Given the description of an element on the screen output the (x, y) to click on. 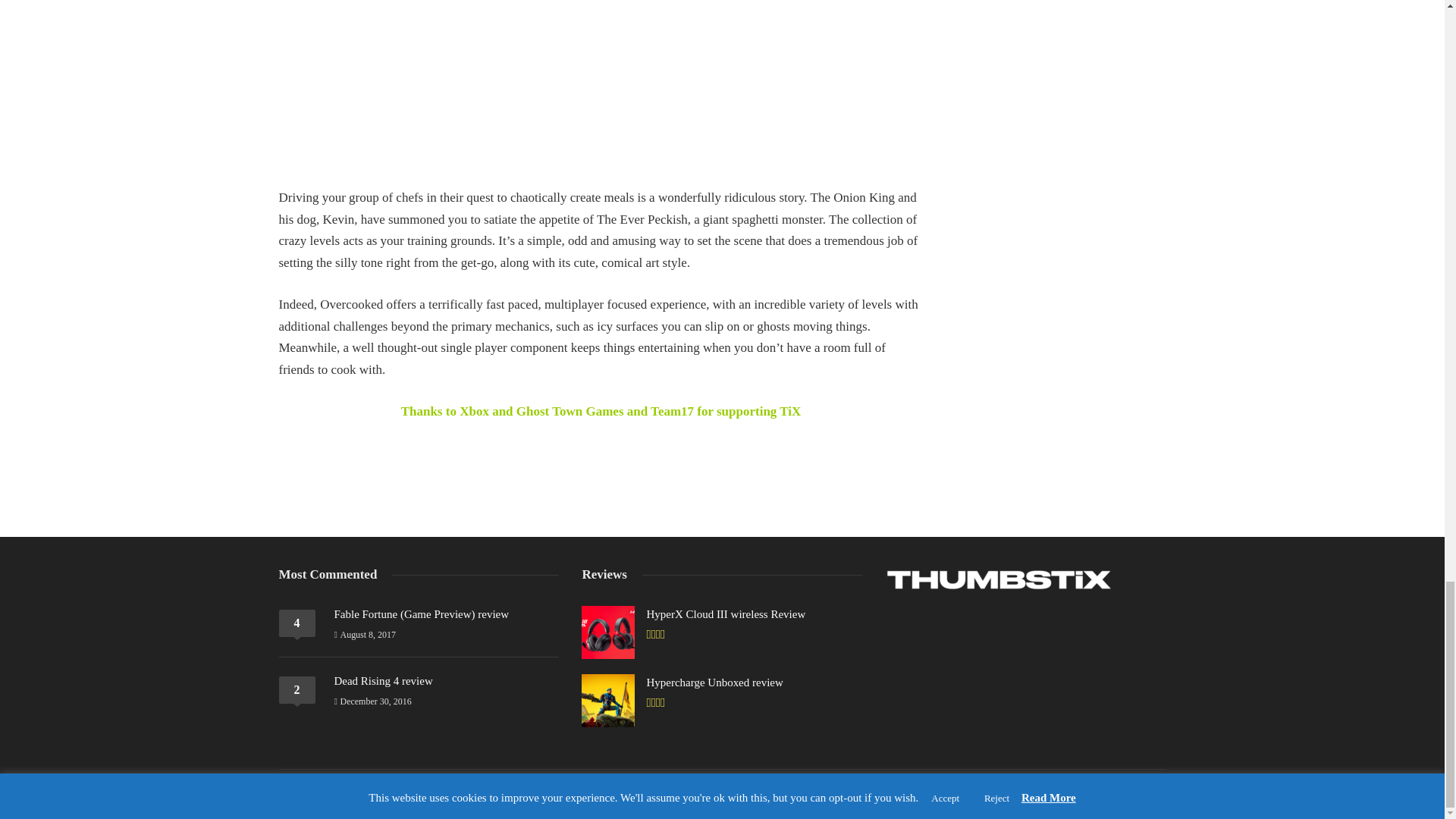
4 Comments (297, 623)
2 (297, 689)
Dead Rising 4 review (382, 681)
2 Comments (297, 689)
4 (297, 623)
August 8, 2017 at 8:26 pm (364, 634)
HyperX Cloud III wireless Review (725, 614)
December 30, 2016 at 8:06 pm (371, 701)
Hypercharge Unboxed review (714, 682)
